Given the description of an element on the screen output the (x, y) to click on. 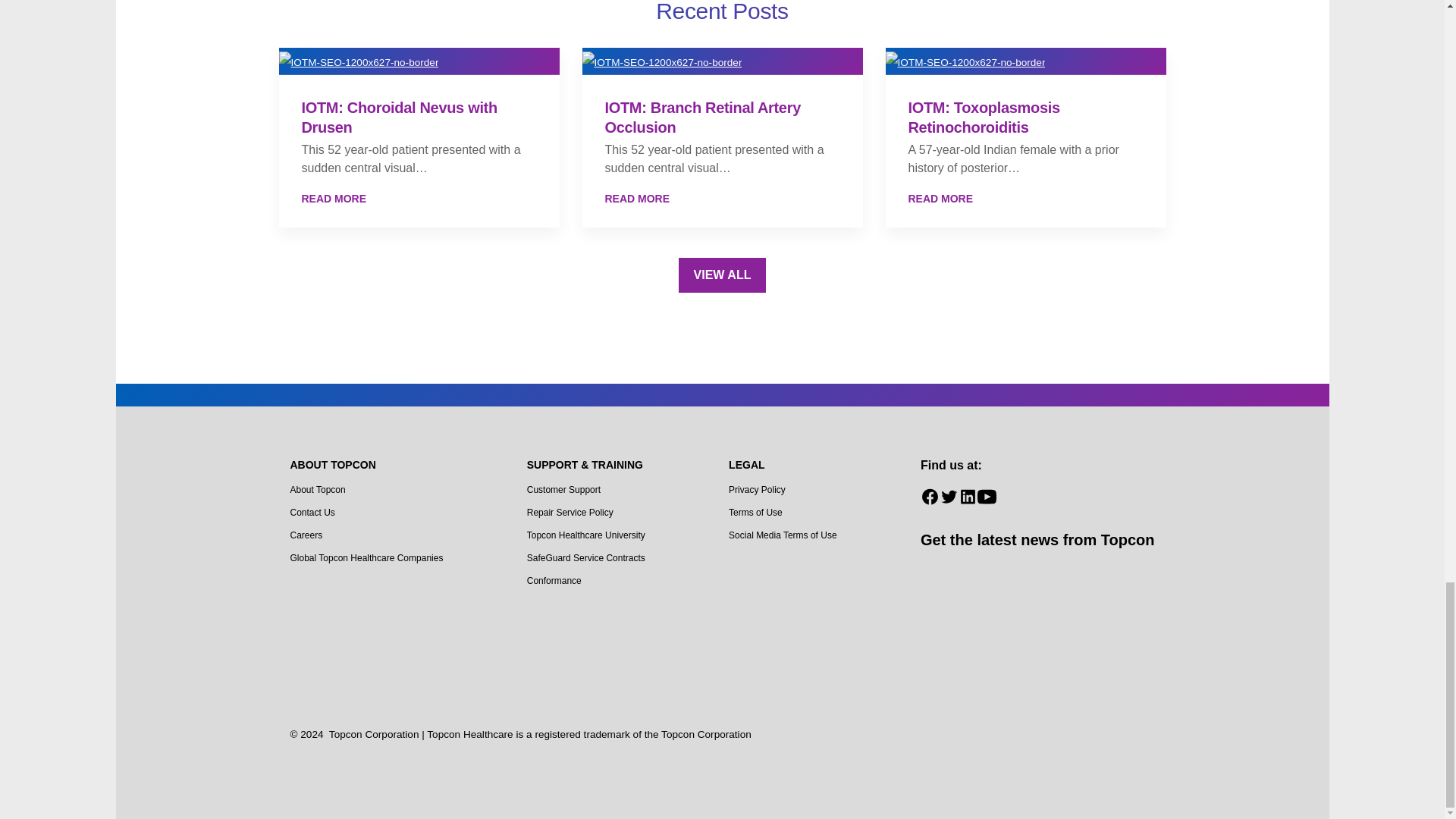
IOTM: Toxoplasmosis Retinochoroiditis (1025, 198)
IOTM: Choroidal Nevus with Drusen (419, 198)
IOTM: Choroidal Nevus with Drusen (419, 61)
IOTM: Branch Retinal Artery Occlusion (722, 198)
IOTM: Branch Retinal Artery Occlusion (722, 61)
IOTM: Toxoplasmosis Retinochoroiditis (1025, 61)
